Given the description of an element on the screen output the (x, y) to click on. 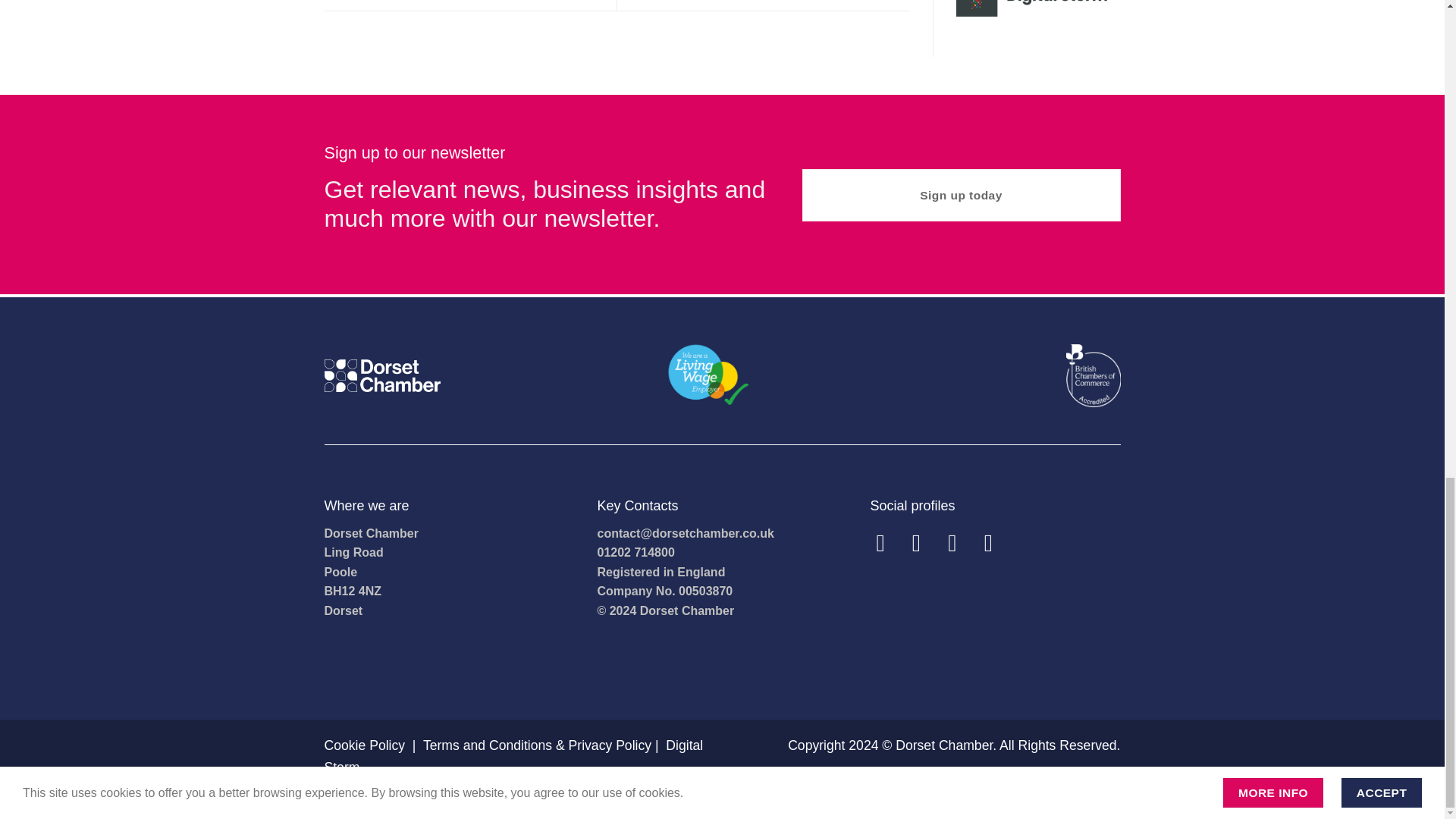
Follow on Instagram (924, 542)
Follow on X (959, 542)
Follow on LinkedIn (996, 542)
Follow on Facebook (887, 542)
